Given the description of an element on the screen output the (x, y) to click on. 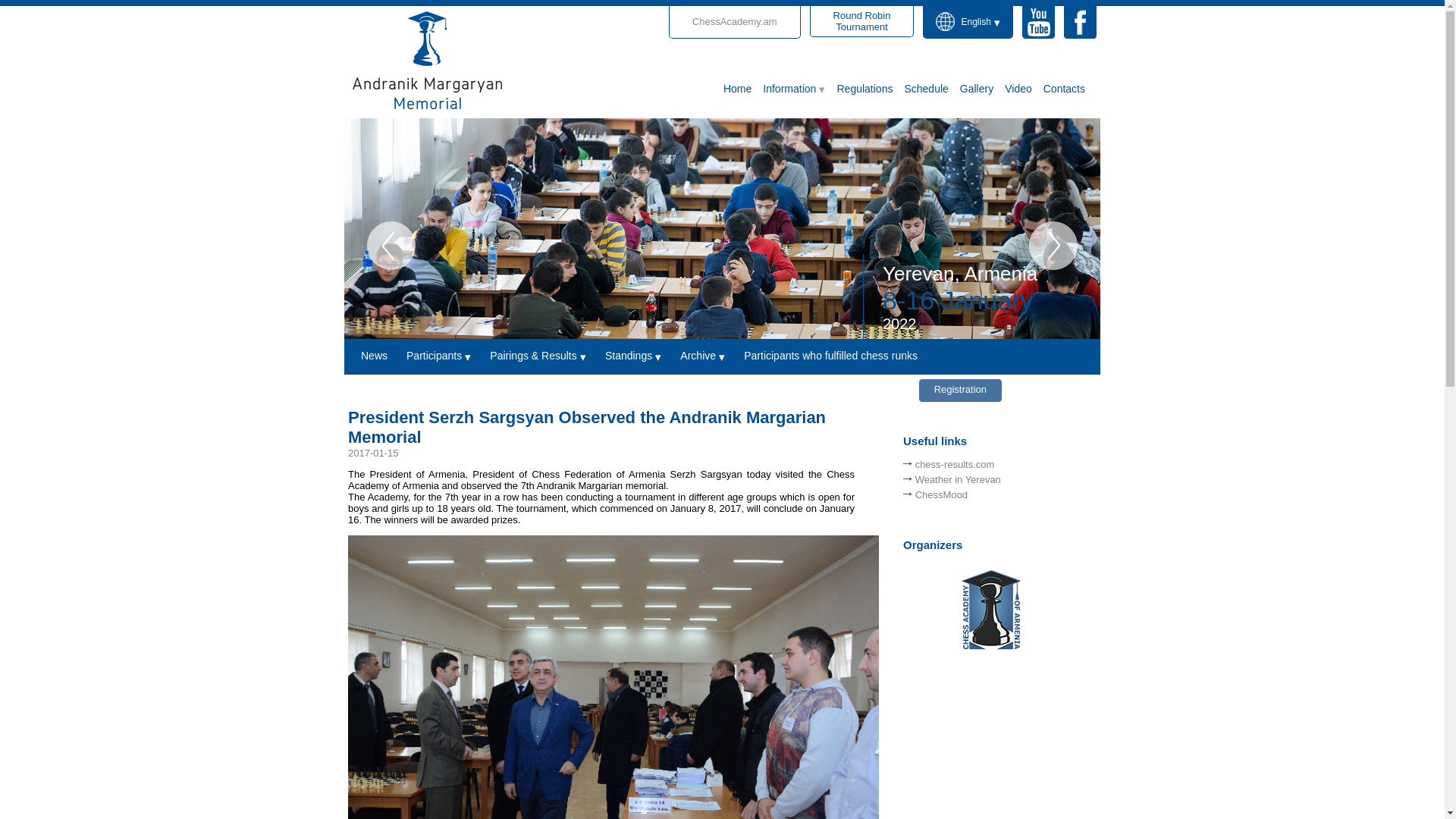
Standings (642, 356)
Previous (390, 245)
Participants who fulfilled chess runks (840, 356)
Archive (711, 356)
Next (1053, 245)
Contacts (1069, 88)
Home (742, 88)
Video (861, 20)
Schedule (1023, 88)
ChessAcademy.am (931, 88)
Gallery (734, 21)
Information (981, 88)
Regulations (798, 88)
